Given the description of an element on the screen output the (x, y) to click on. 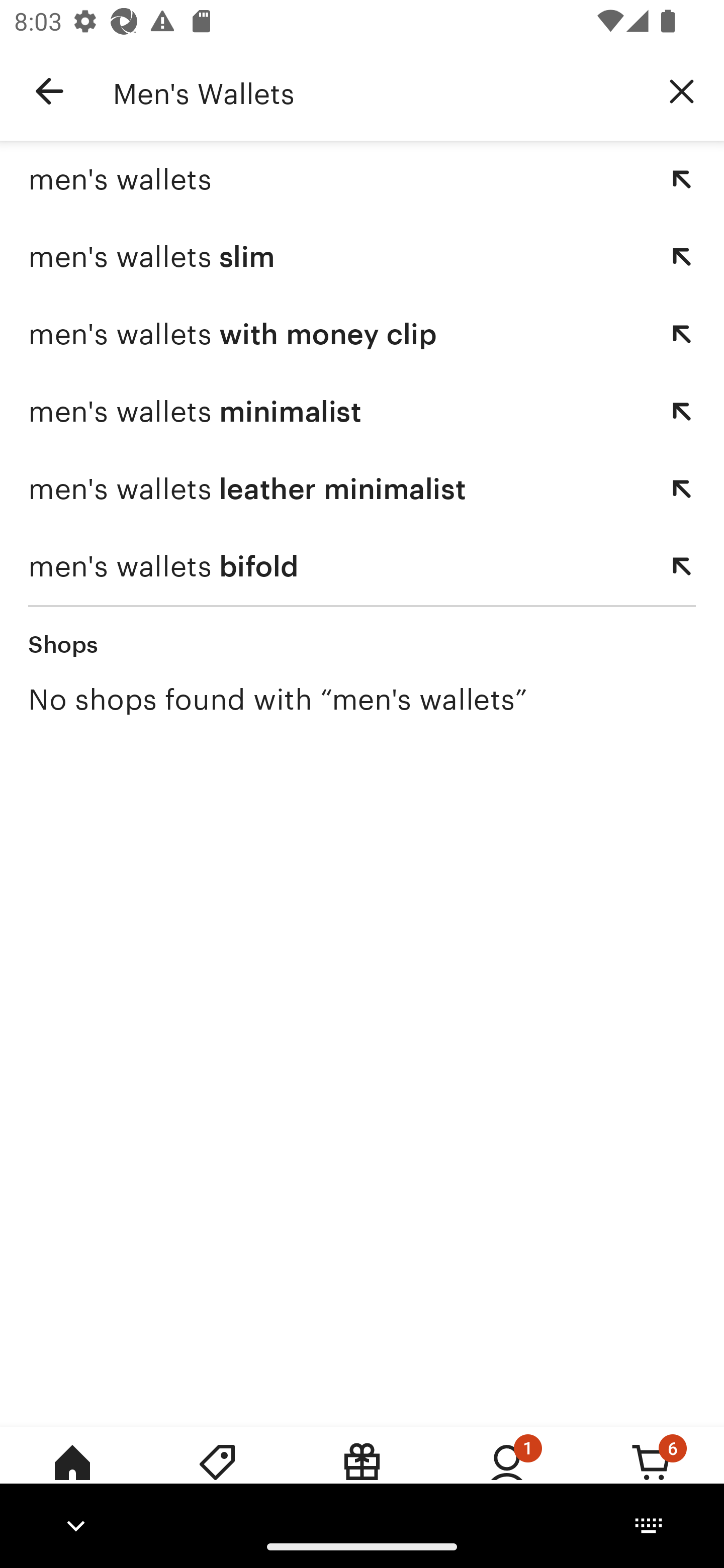
Navigate up (49, 91)
Clear query (681, 90)
Men's Wallets (375, 91)
Deals (216, 1475)
Gift Mode (361, 1475)
You, 1 new notification (506, 1475)
Cart, 6 new notifications (651, 1475)
